Given the description of an element on the screen output the (x, y) to click on. 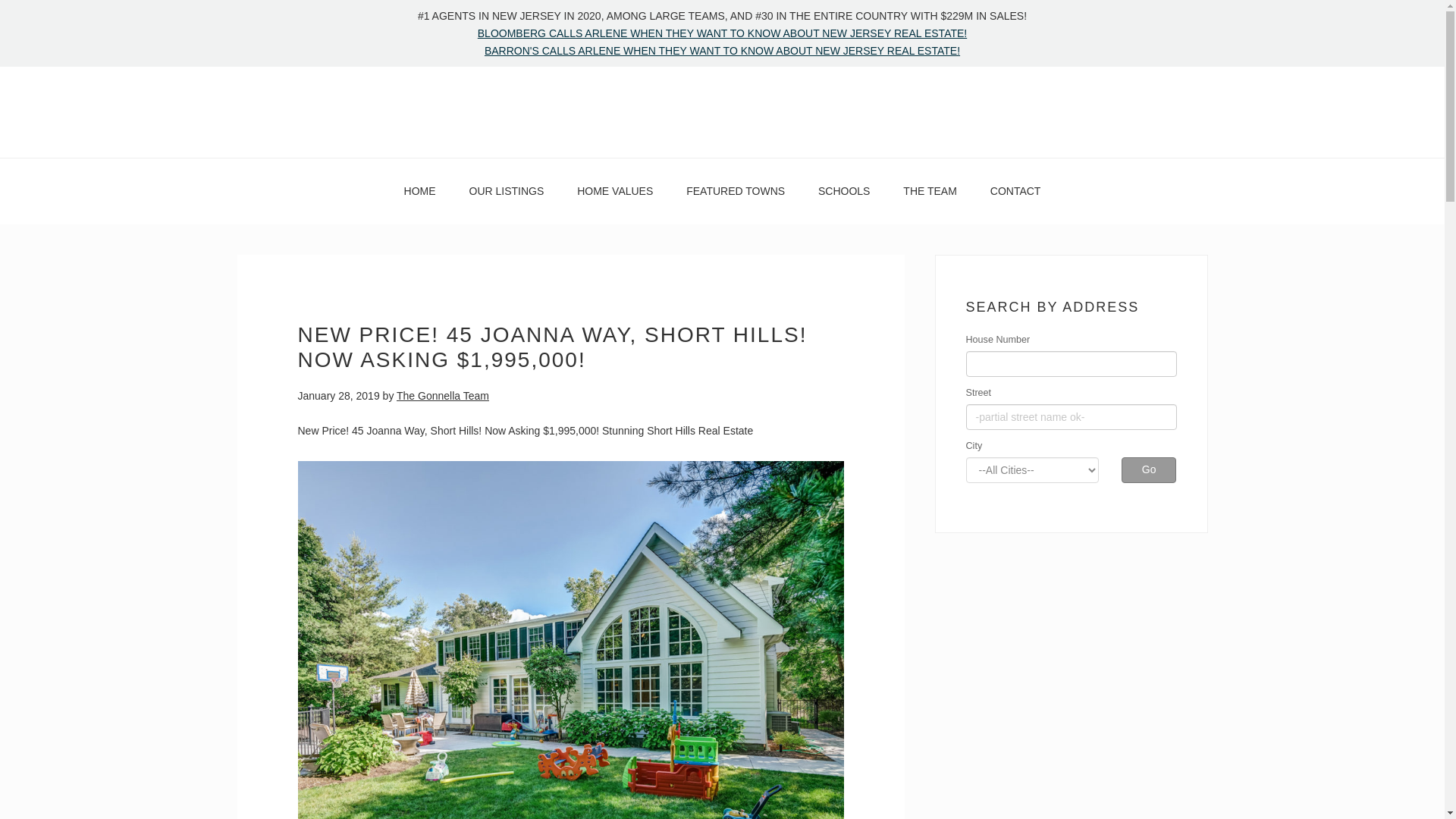
Go (1148, 470)
The Gonnella Team (721, 111)
OUR LISTINGS (505, 191)
SCHOOLS (844, 191)
CONTACT (1016, 191)
HOME (419, 191)
FEATURED TOWNS (735, 191)
THE TEAM (930, 191)
